Given the description of an element on the screen output the (x, y) to click on. 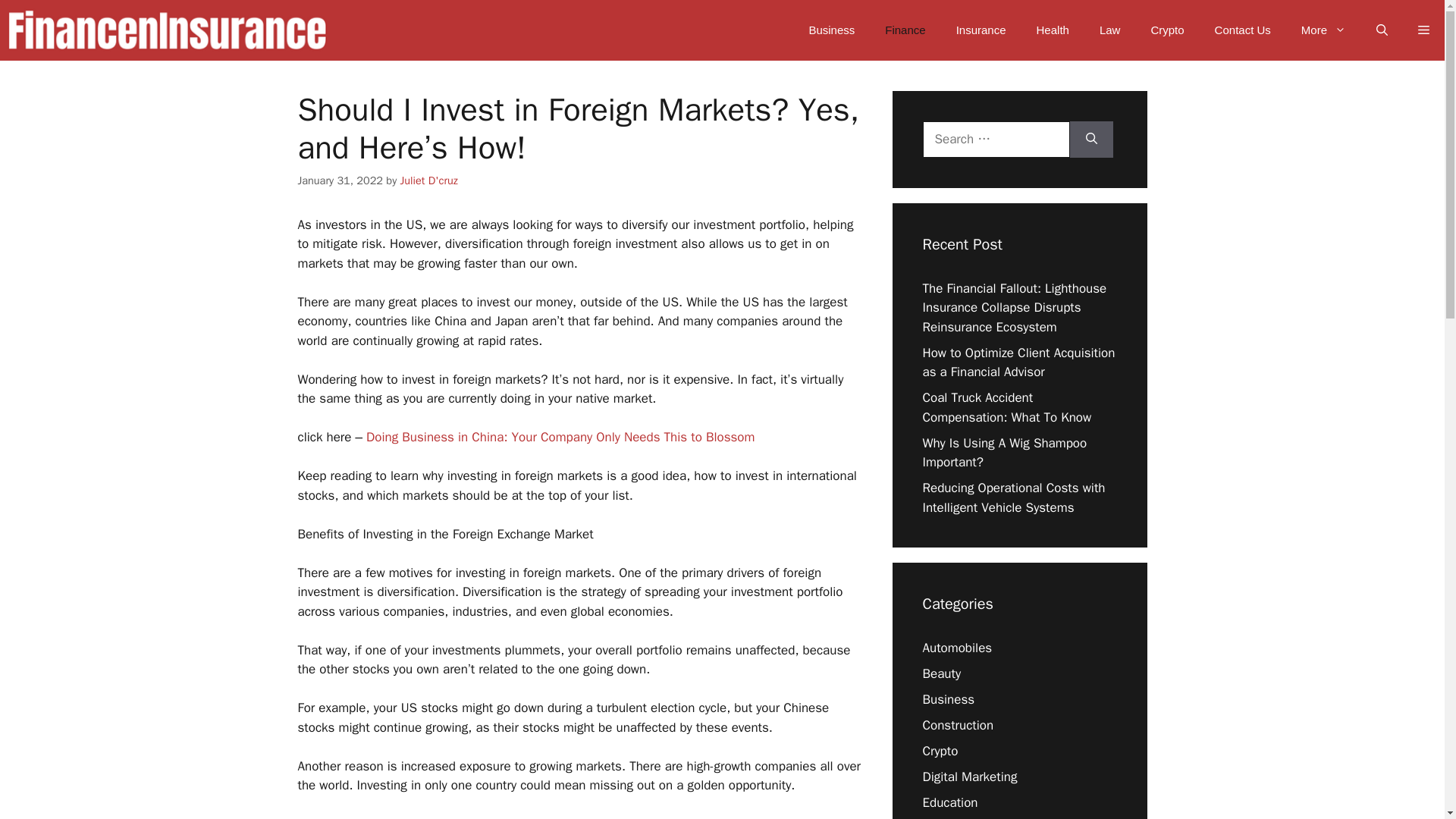
Coal Truck Accident Compensation: What To Know (1005, 407)
Finance (904, 30)
Digital Marketing (968, 776)
Why Is Using A Wig Shampoo Important? (1003, 452)
Construction (956, 725)
Business (947, 699)
Health (1053, 30)
Education (948, 802)
How to Optimize Client Acquisition as a Financial Advisor  (1018, 361)
Reducing Operational Costs with Intelligent Vehicle Systems (1013, 497)
